Given the description of an element on the screen output the (x, y) to click on. 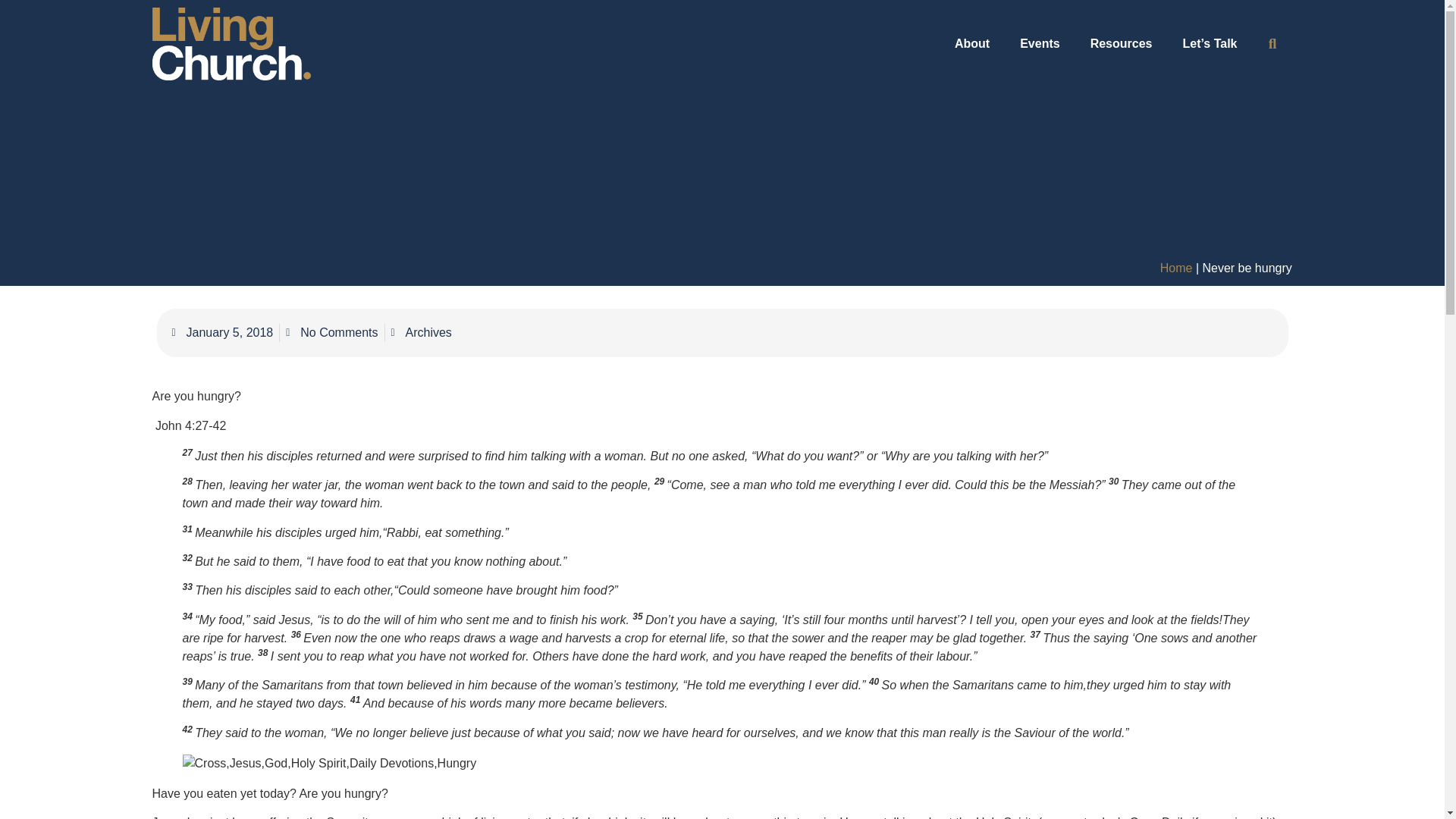
Home (1176, 267)
January 5, 2018 (222, 332)
Events (1039, 43)
Resources (1121, 43)
About (971, 43)
Archives (427, 332)
No Comments (331, 332)
